Given the description of an element on the screen output the (x, y) to click on. 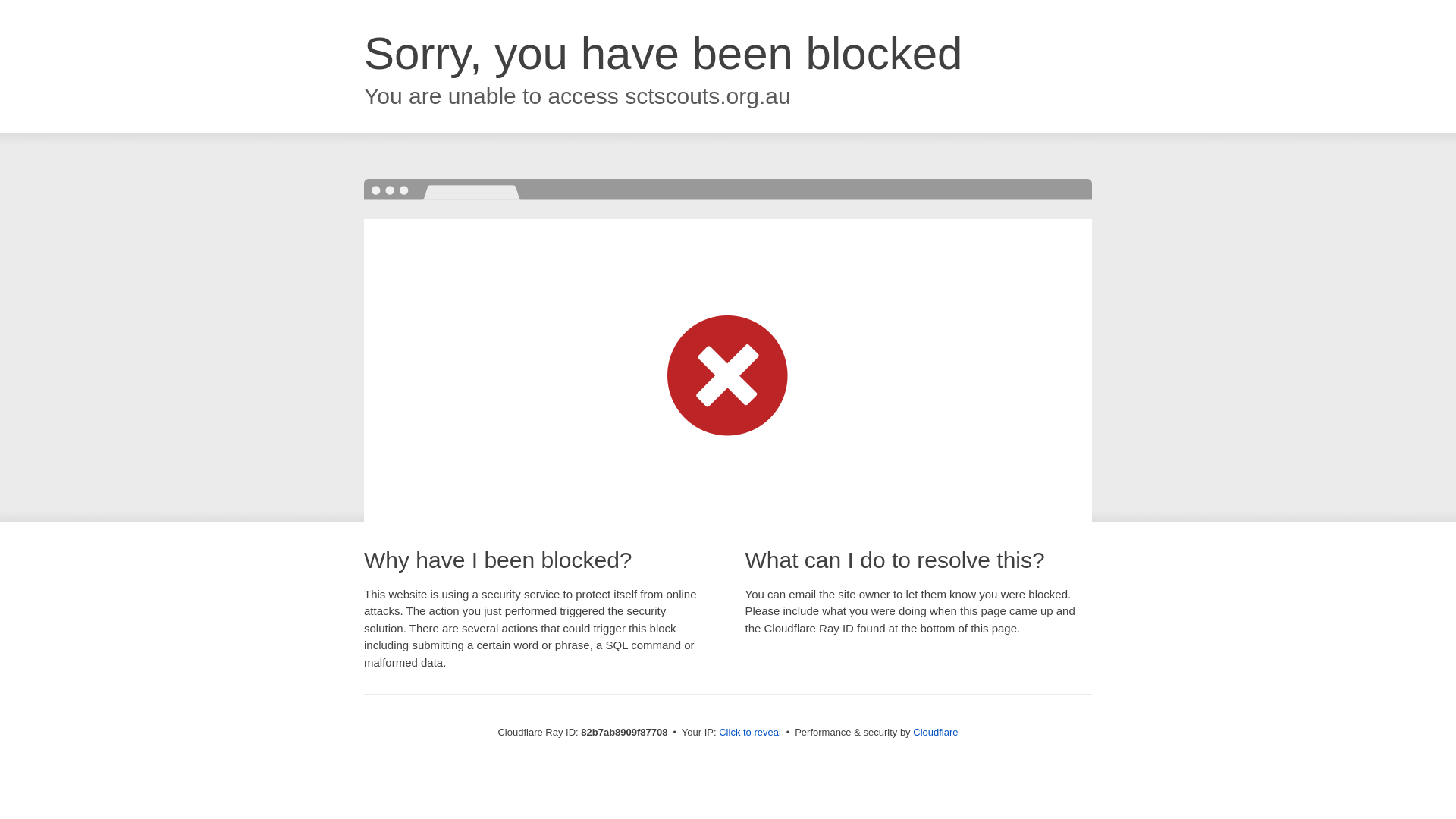
Cloudflare Element type: text (935, 731)
Click to reveal Element type: text (749, 732)
